Given the description of an element on the screen output the (x, y) to click on. 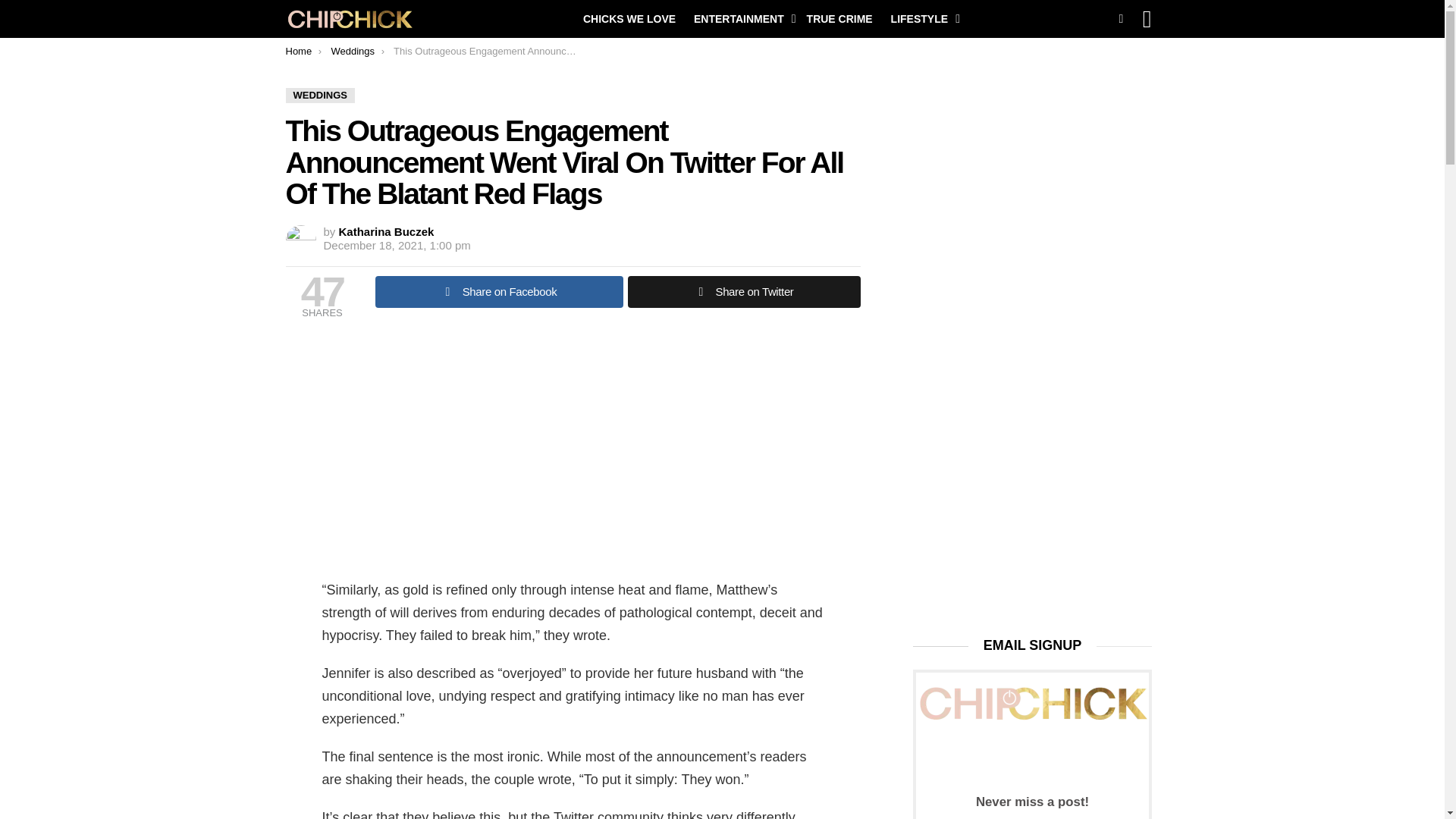
TRUE CRIME (839, 18)
Home (298, 50)
Share on Twitter (743, 291)
WEDDINGS (320, 95)
LIFESTYLE (921, 18)
Weddings (352, 50)
ENTERTAINMENT (740, 18)
CHICKS WE LOVE (628, 18)
Posts by Katharina Buczek (386, 231)
Katharina Buczek (386, 231)
Share on Facebook (498, 291)
